Given the description of an element on the screen output the (x, y) to click on. 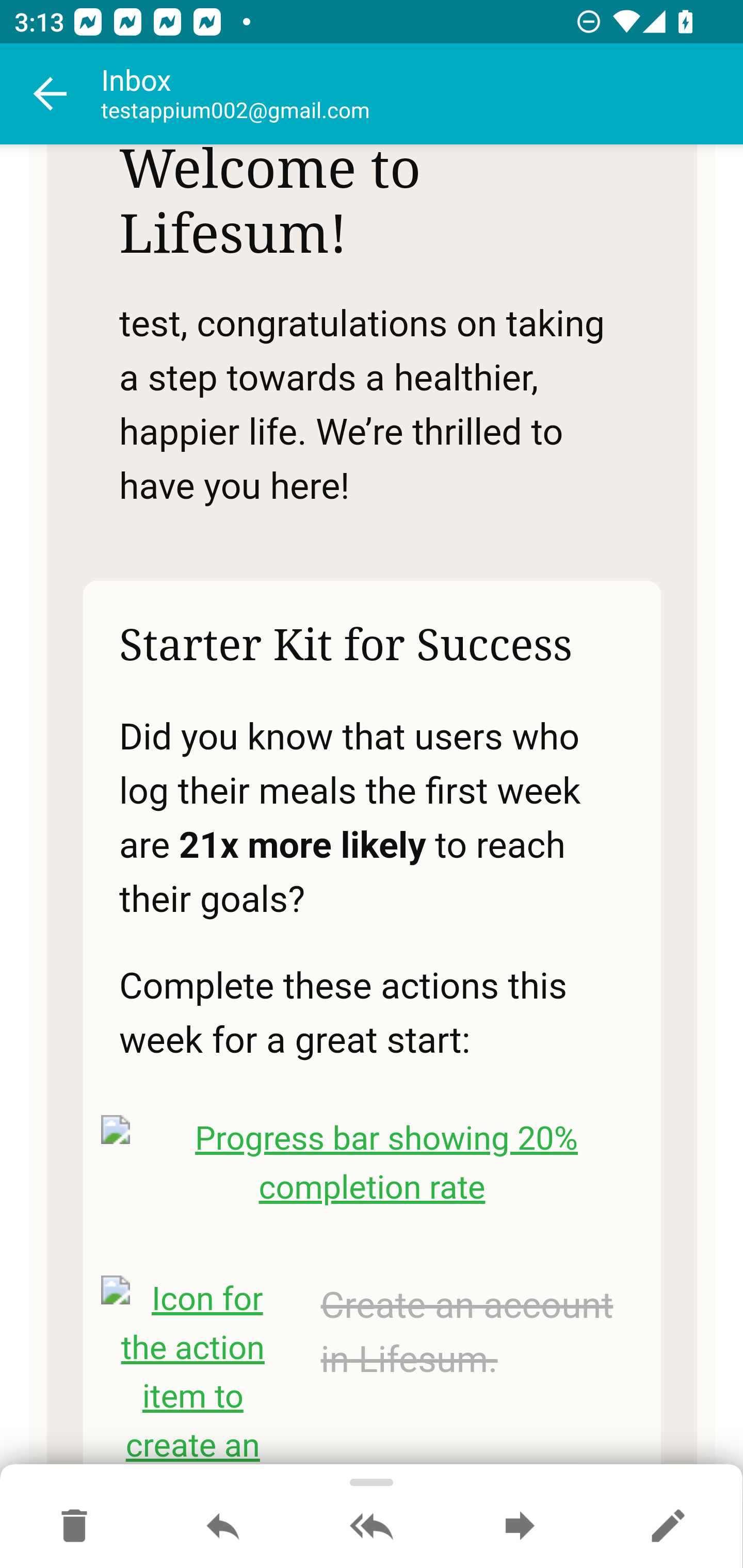
Navigate up (50, 93)
Inbox testappium002@gmail.com (422, 93)
Progress bar showing 20% completion rate (372, 1163)
Move to Deleted (74, 1527)
Reply (222, 1527)
Reply all (371, 1527)
Forward (519, 1527)
Reply as new (667, 1527)
